Given the description of an element on the screen output the (x, y) to click on. 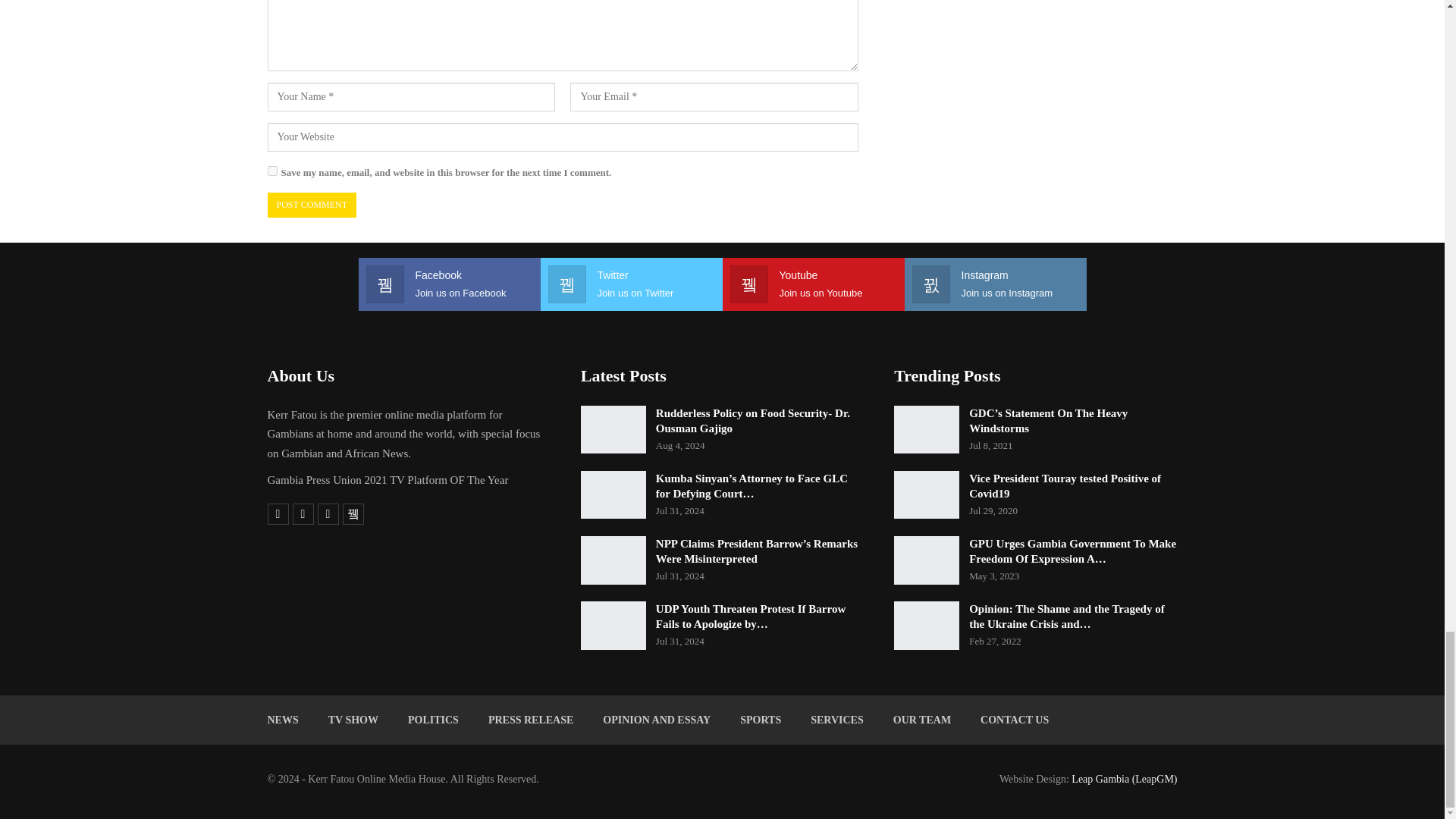
yes (271, 171)
Post Comment (310, 204)
